Given the description of an element on the screen output the (x, y) to click on. 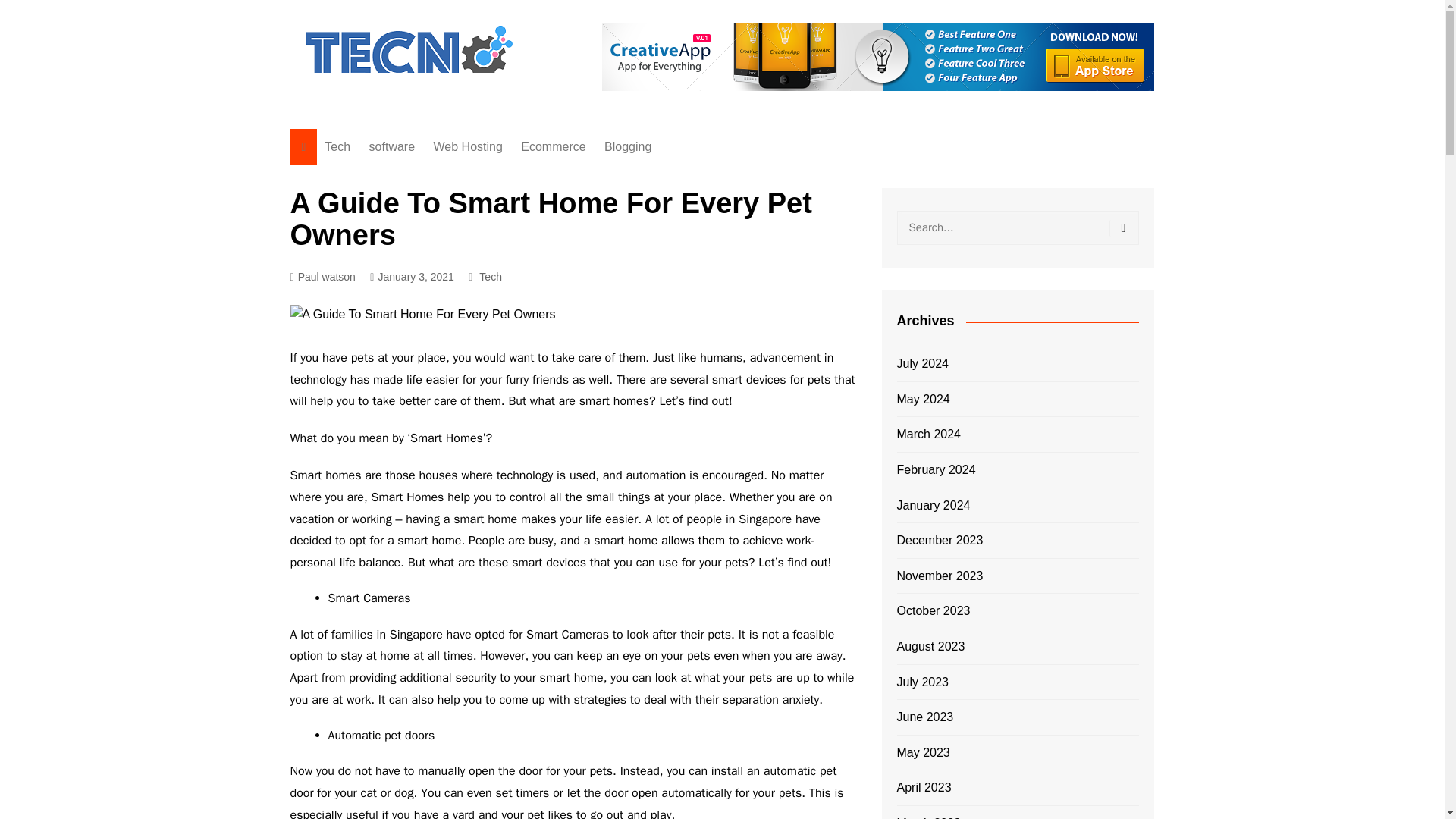
November 2023 (939, 576)
March 2023 (928, 816)
October 2023 (932, 610)
February 2024 (935, 469)
March 2024 (928, 434)
June 2023 (924, 717)
May 2024 (922, 399)
Paul watson (322, 276)
Ecommerce (552, 146)
January 2024 (932, 505)
August 2023 (929, 646)
July 2023 (922, 682)
July 2024 (922, 363)
April 2023 (923, 787)
January 3, 2021 (411, 276)
